Given the description of an element on the screen output the (x, y) to click on. 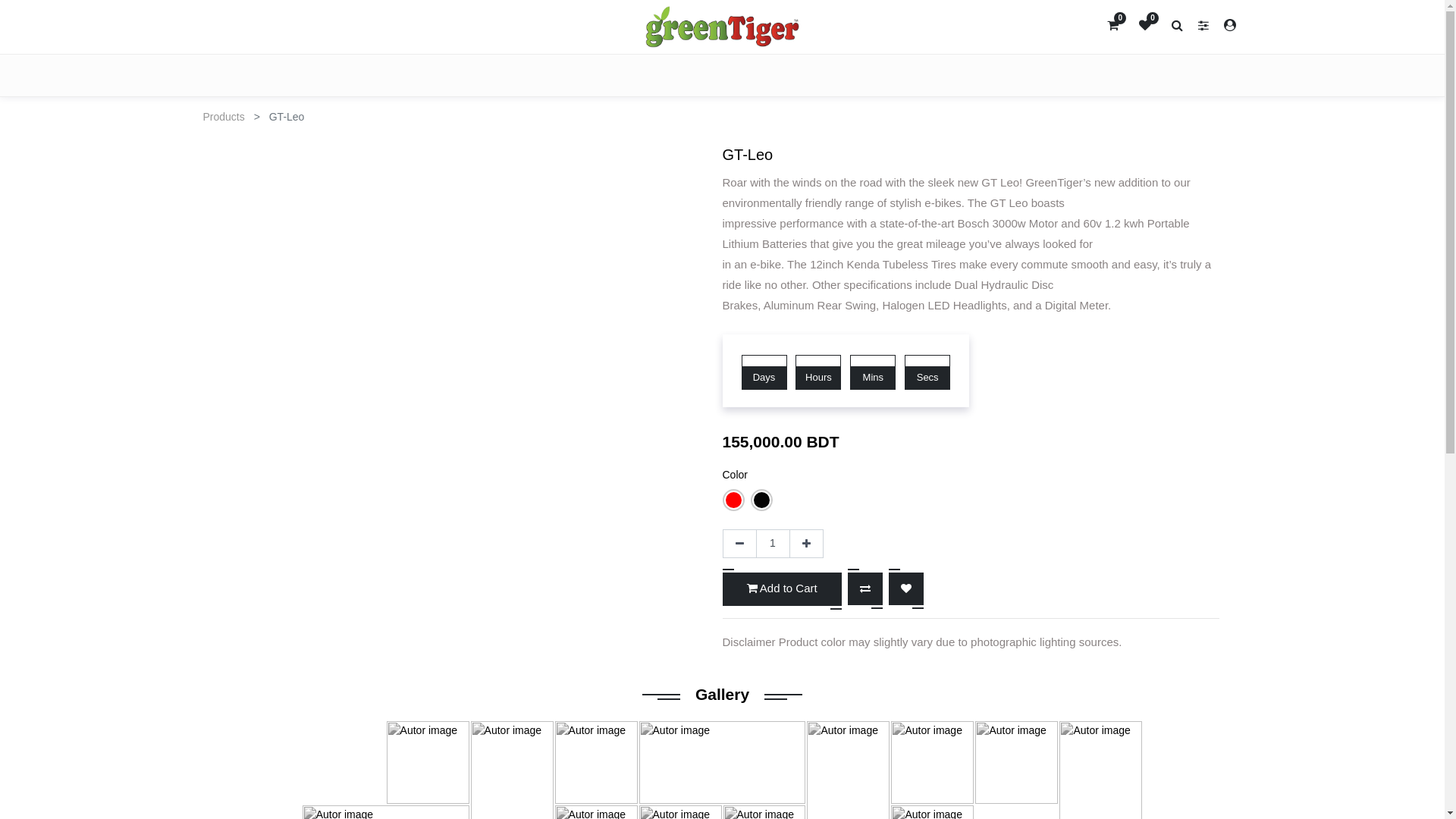
0 Element type: text (1145, 24)
greenTiger Element type: hover (721, 26)
Remove one Element type: hover (738, 543)
Add to Cart Element type: text (780, 588)
0 Element type: text (1112, 24)
Add one Element type: hover (805, 543)
Products Element type: text (223, 116)
